Given the description of an element on the screen output the (x, y) to click on. 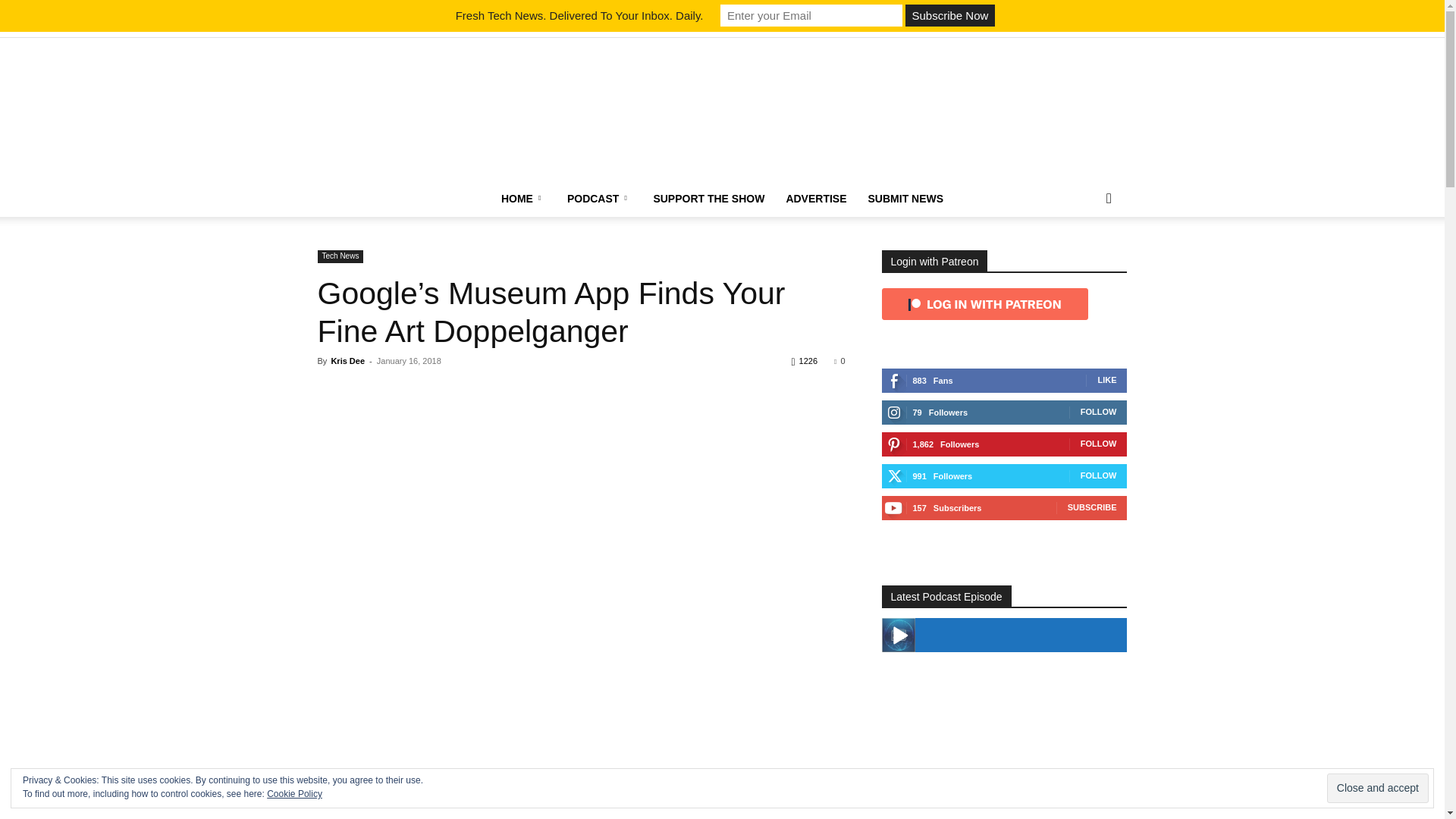
HOME (523, 198)
Subscribe Now (949, 15)
Our Team (470, 26)
Latest (328, 26)
PODCAST (599, 198)
Close and accept (1377, 788)
Tech News (379, 26)
Contact Us (523, 26)
About (427, 26)
